Given the description of an element on the screen output the (x, y) to click on. 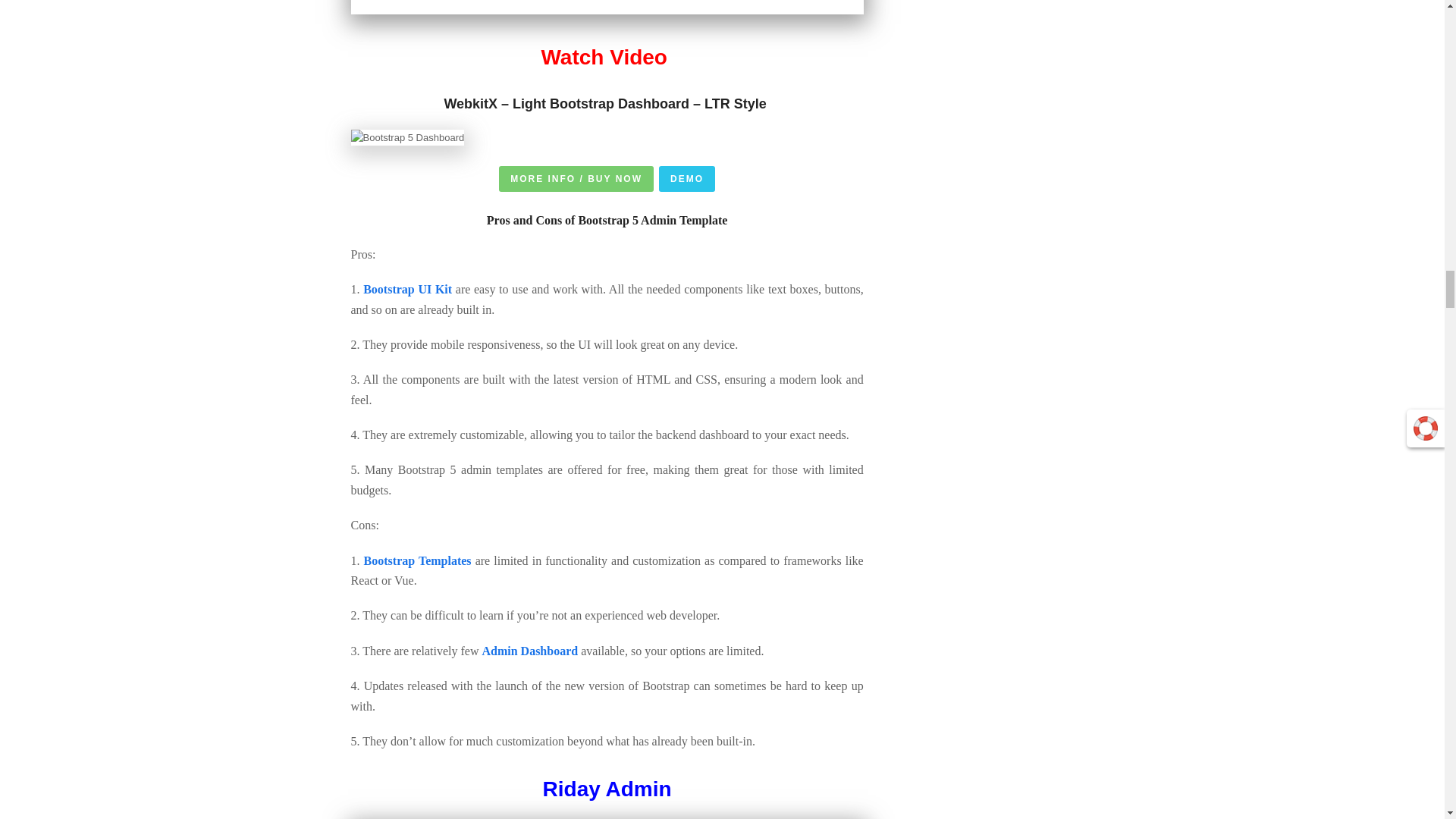
YouTube video player (606, 7)
